Given the description of an element on the screen output the (x, y) to click on. 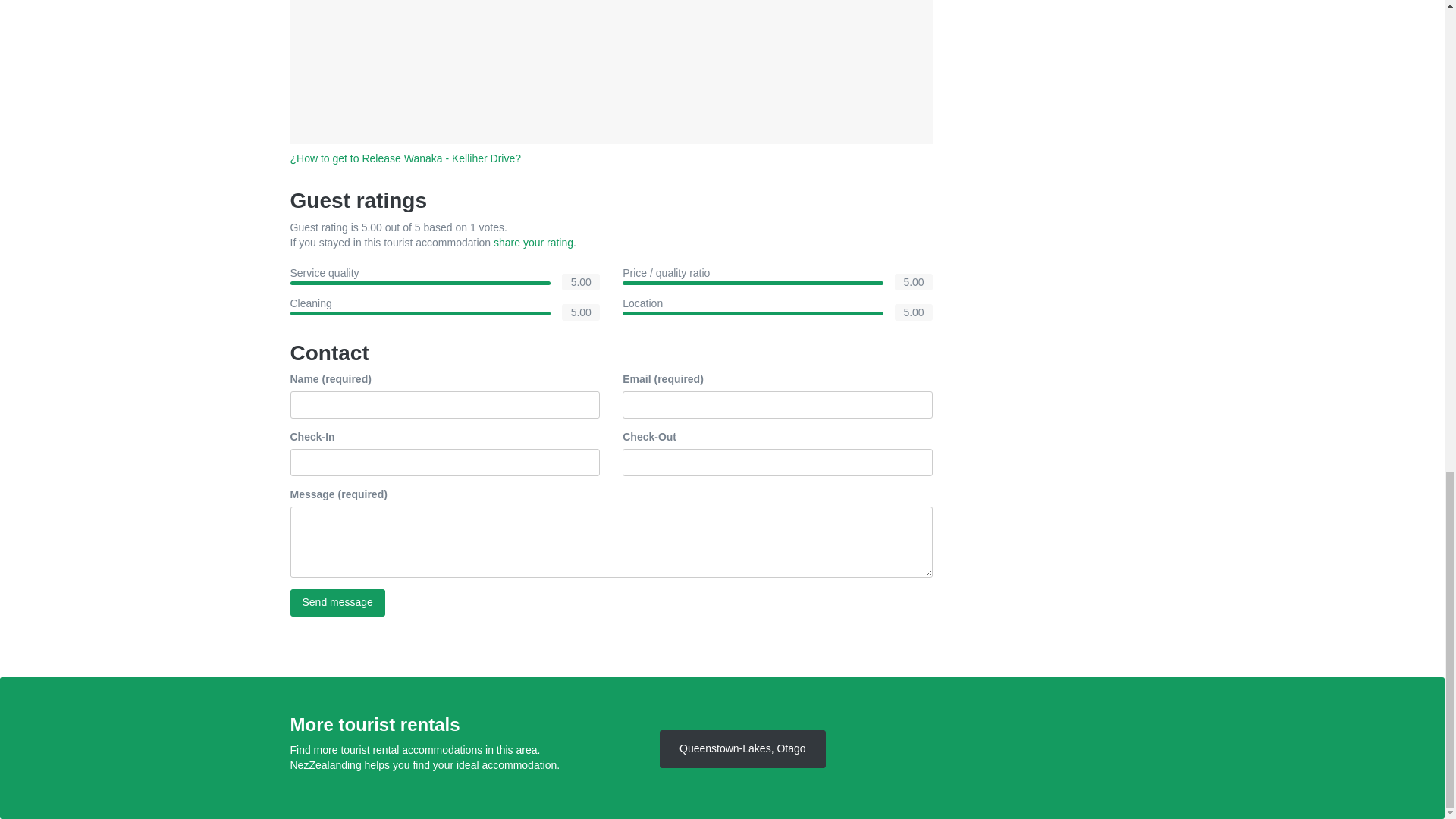
Queenstown-Lakes, Otago (742, 749)
Send message (336, 602)
share your rating (533, 242)
